Given the description of an element on the screen output the (x, y) to click on. 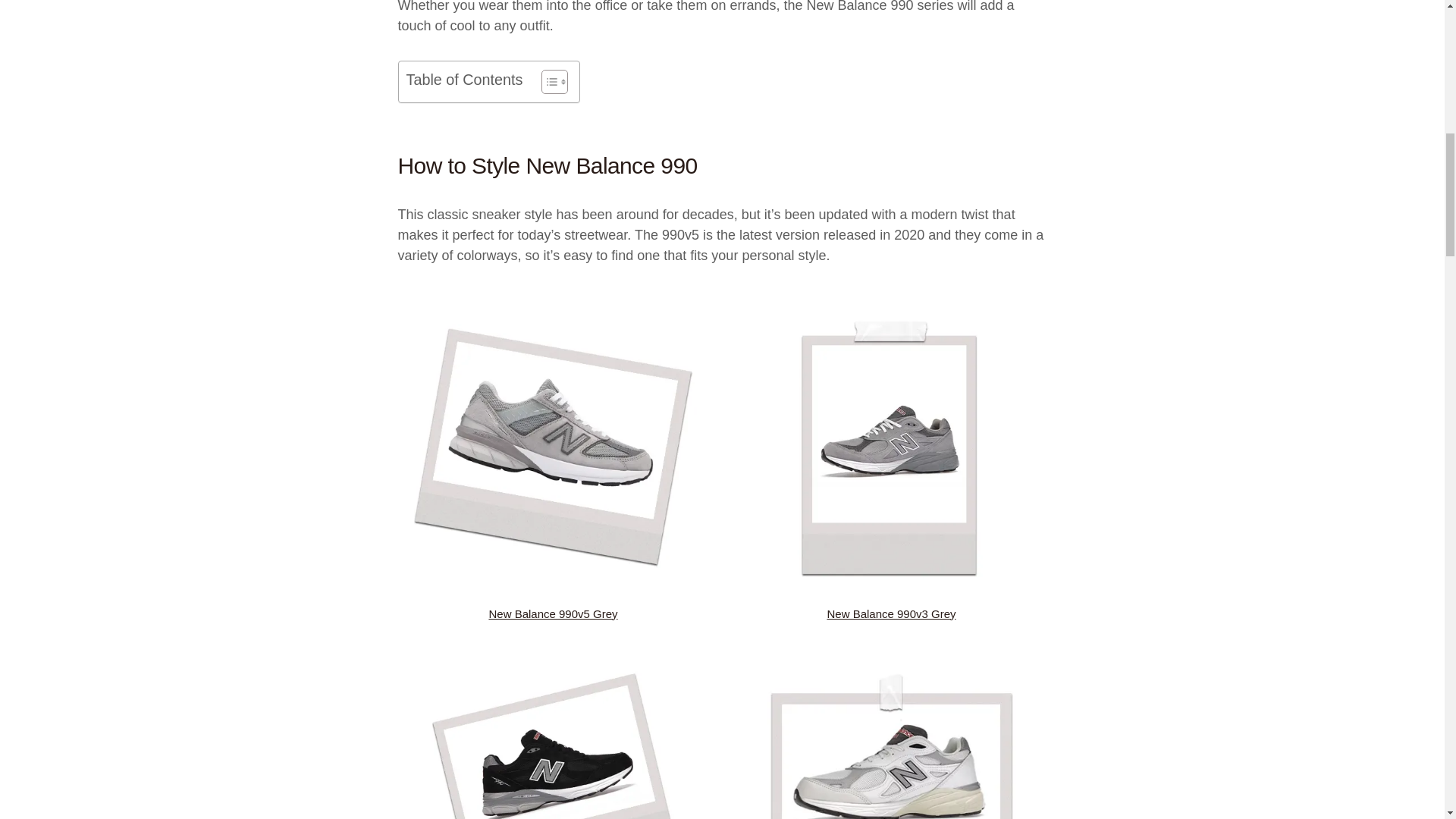
New Balance 990v3 Grey (891, 612)
New Balance 990v5 Grey (552, 612)
